Given the description of an element on the screen output the (x, y) to click on. 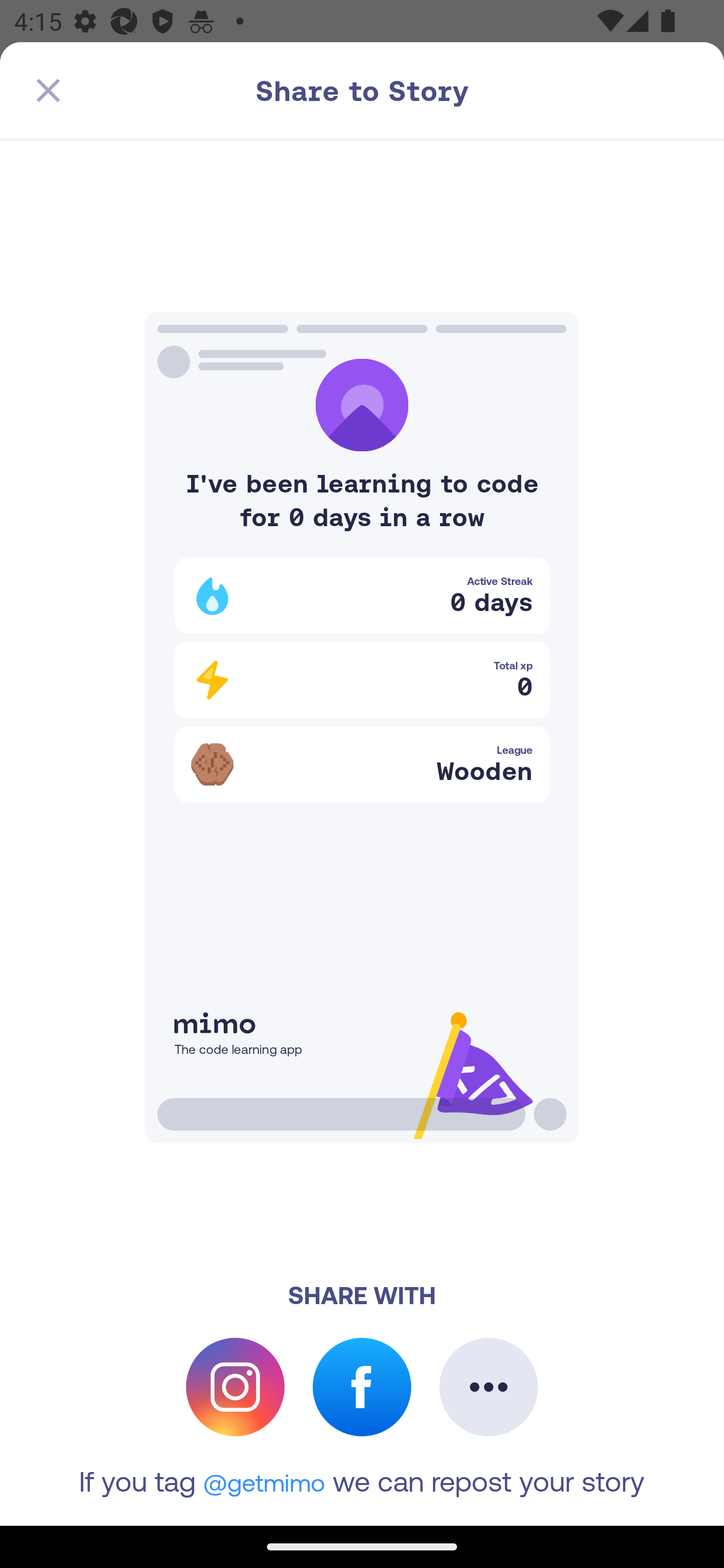
Close (47, 90)
